Given the description of an element on the screen output the (x, y) to click on. 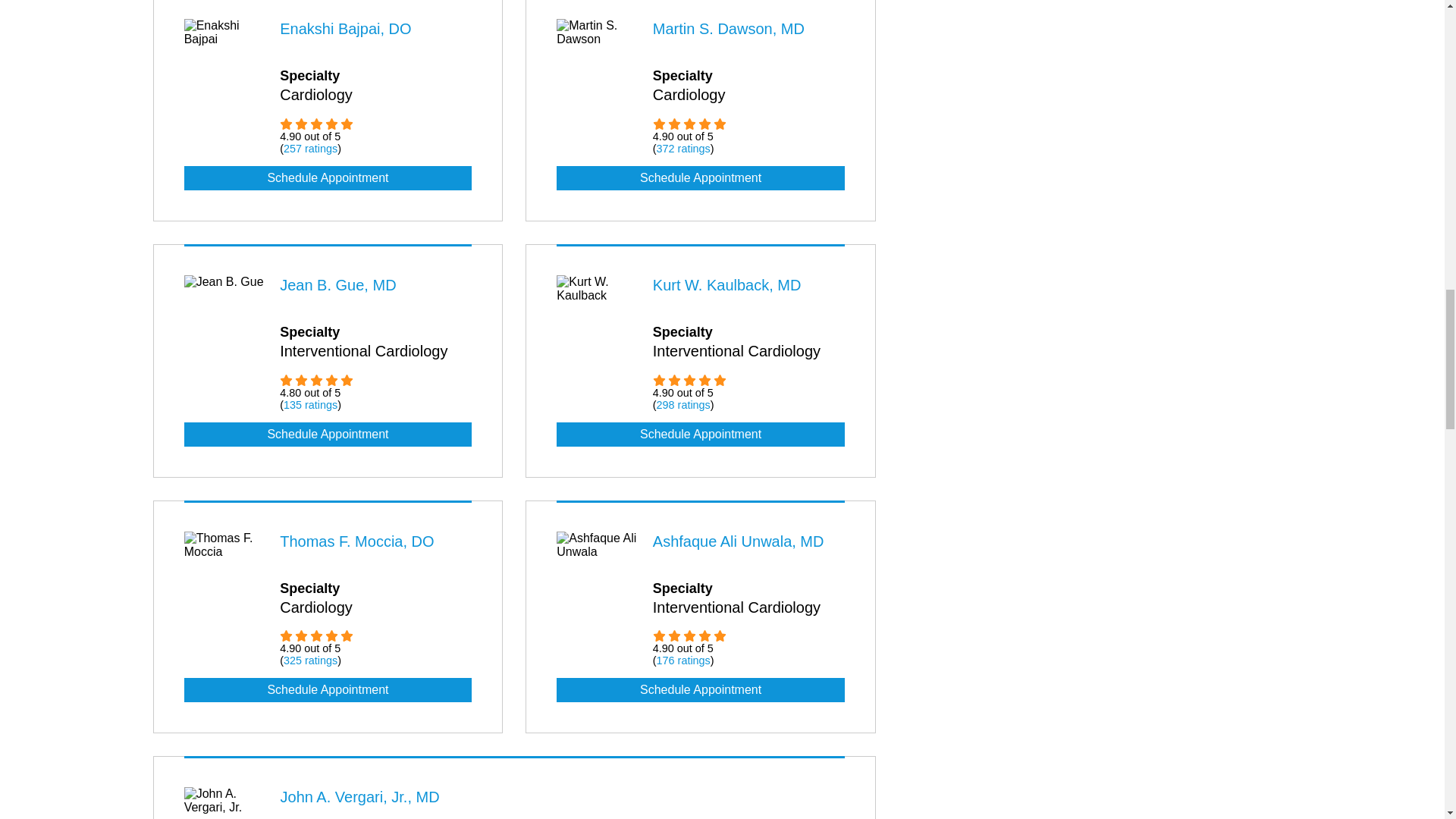
Enakshi Bajpai, DO (344, 28)
